Given the description of an element on the screen output the (x, y) to click on. 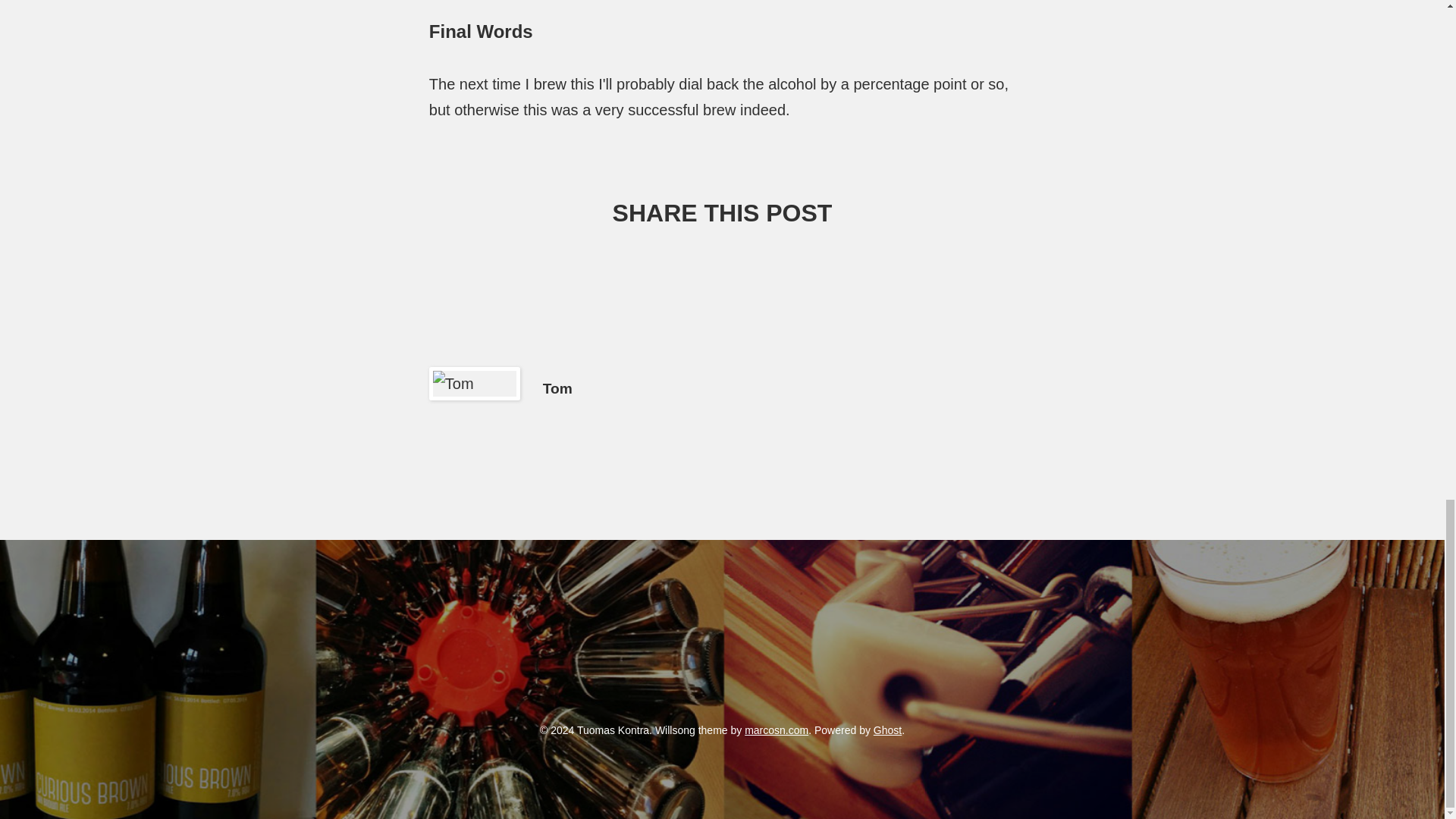
marcosn.com (776, 729)
Tom (557, 388)
Ghost (887, 729)
